Given the description of an element on the screen output the (x, y) to click on. 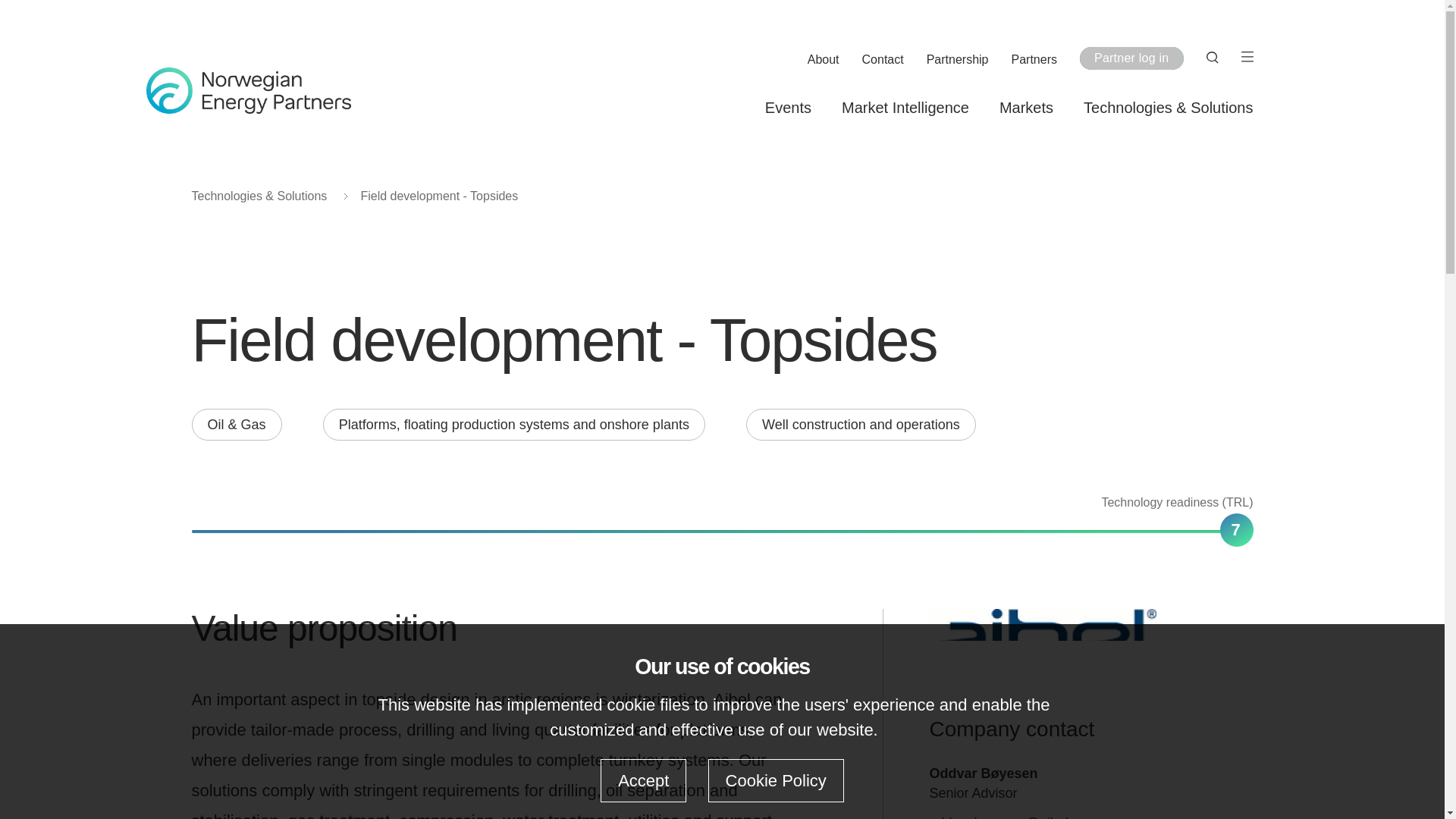
Market Intelligence (905, 107)
Partnership (957, 60)
About (824, 60)
Events (787, 107)
Markets (1025, 107)
Partners (1034, 60)
Partner log in (1131, 57)
Contact (882, 60)
